Given the description of an element on the screen output the (x, y) to click on. 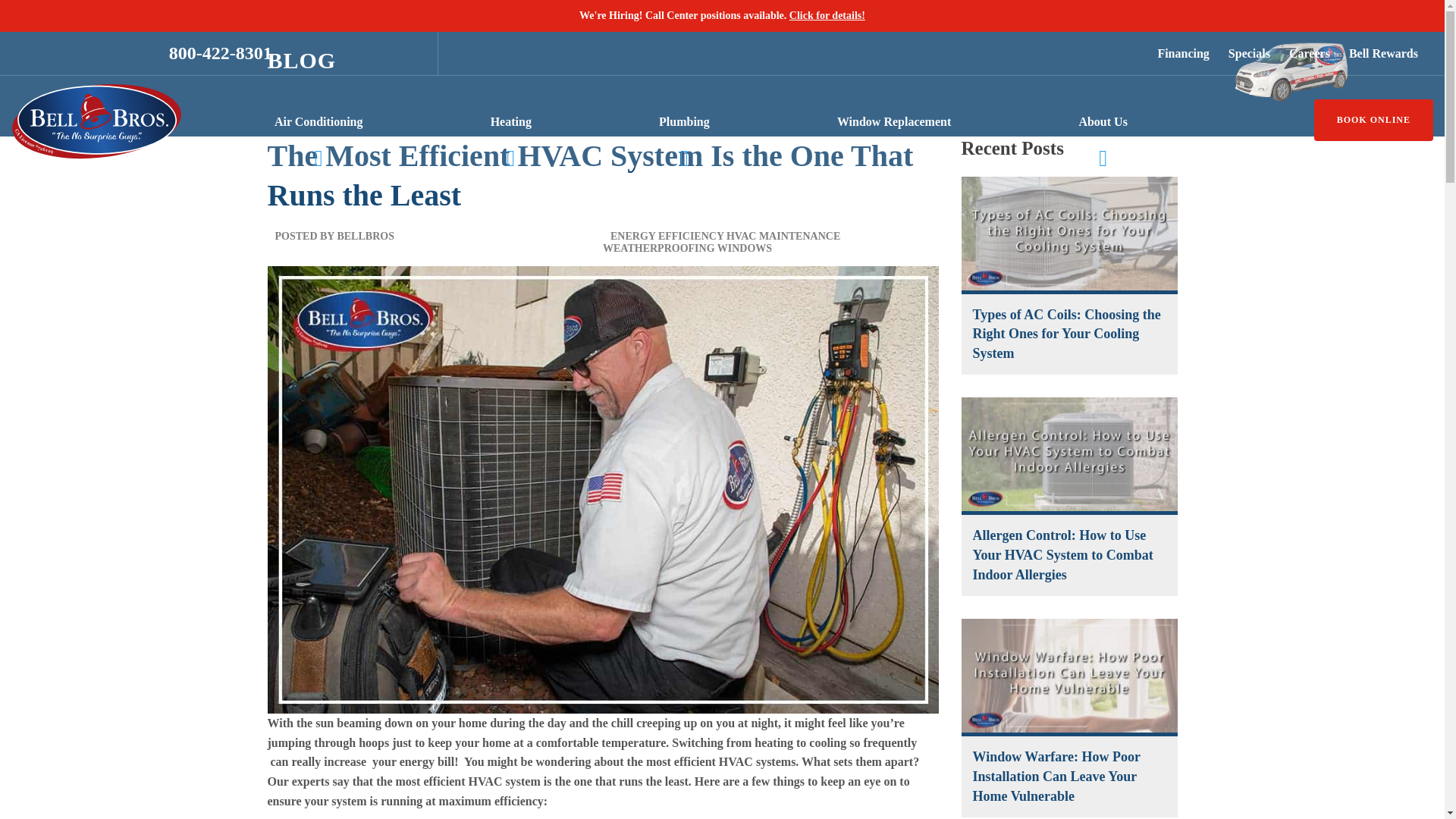
800-422-8301 (220, 53)
Careers (1307, 53)
Financing (1180, 53)
Click for details! (826, 15)
Bell Rewards (1381, 53)
Air Conditioning (318, 121)
Specials (1246, 53)
Window Replacement (893, 121)
